Given the description of an element on the screen output the (x, y) to click on. 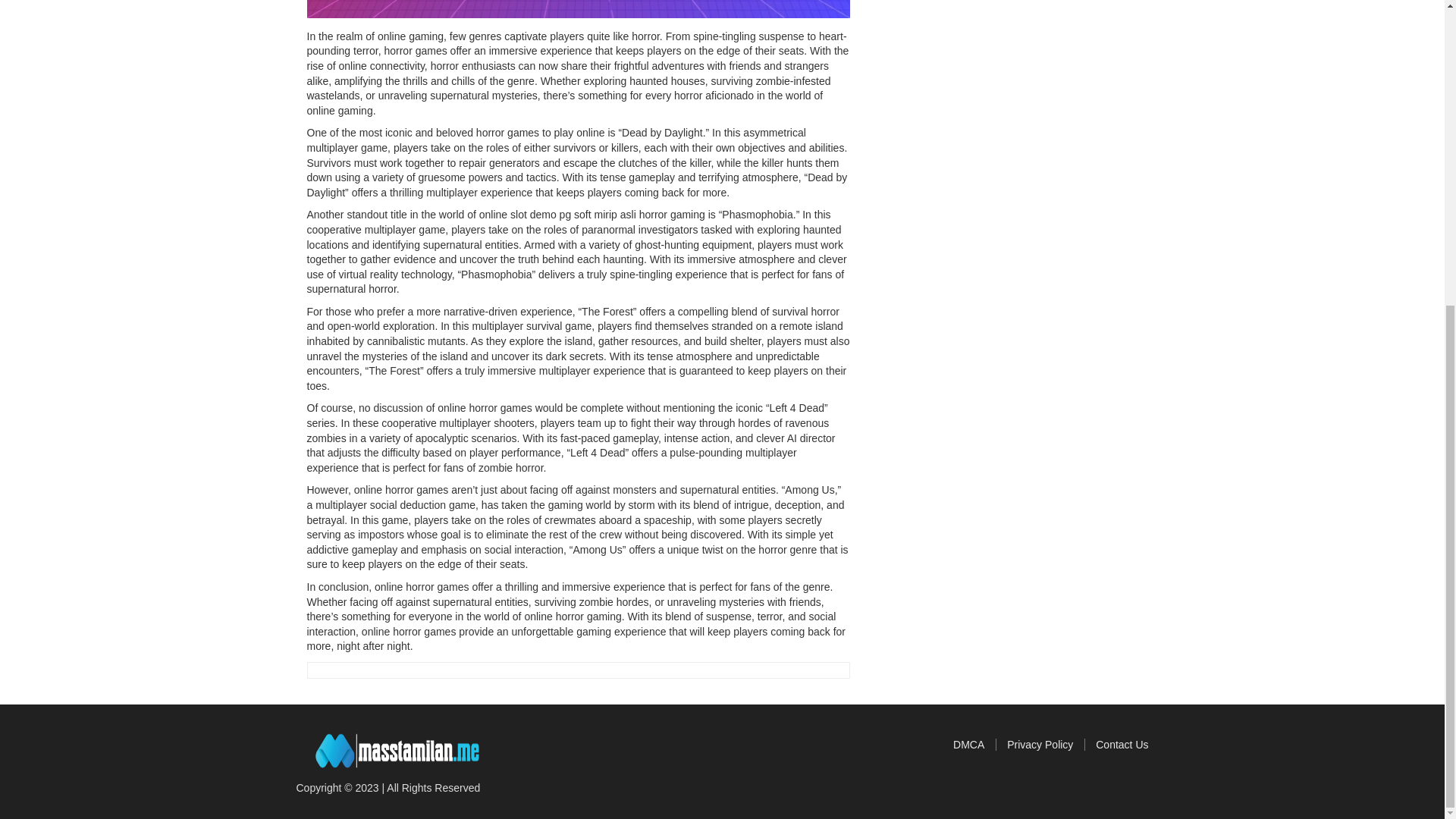
DMCA (974, 744)
slot demo pg soft mirip asli (571, 214)
Privacy Policy (1045, 744)
Contact Us (1122, 744)
